Given the description of an element on the screen output the (x, y) to click on. 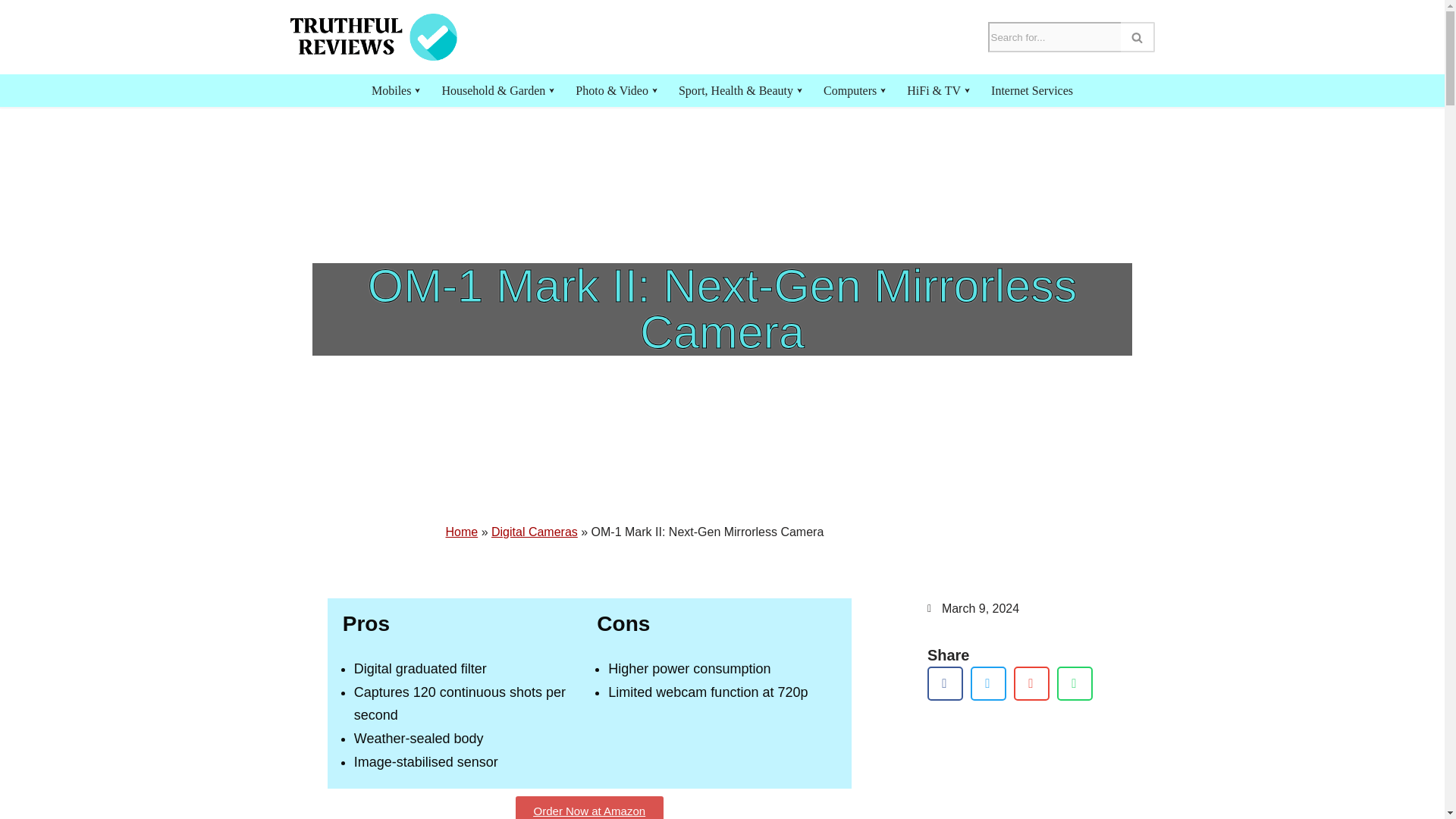
Computers (850, 90)
Skip to content (11, 31)
Mobiles (390, 90)
